Given the description of an element on the screen output the (x, y) to click on. 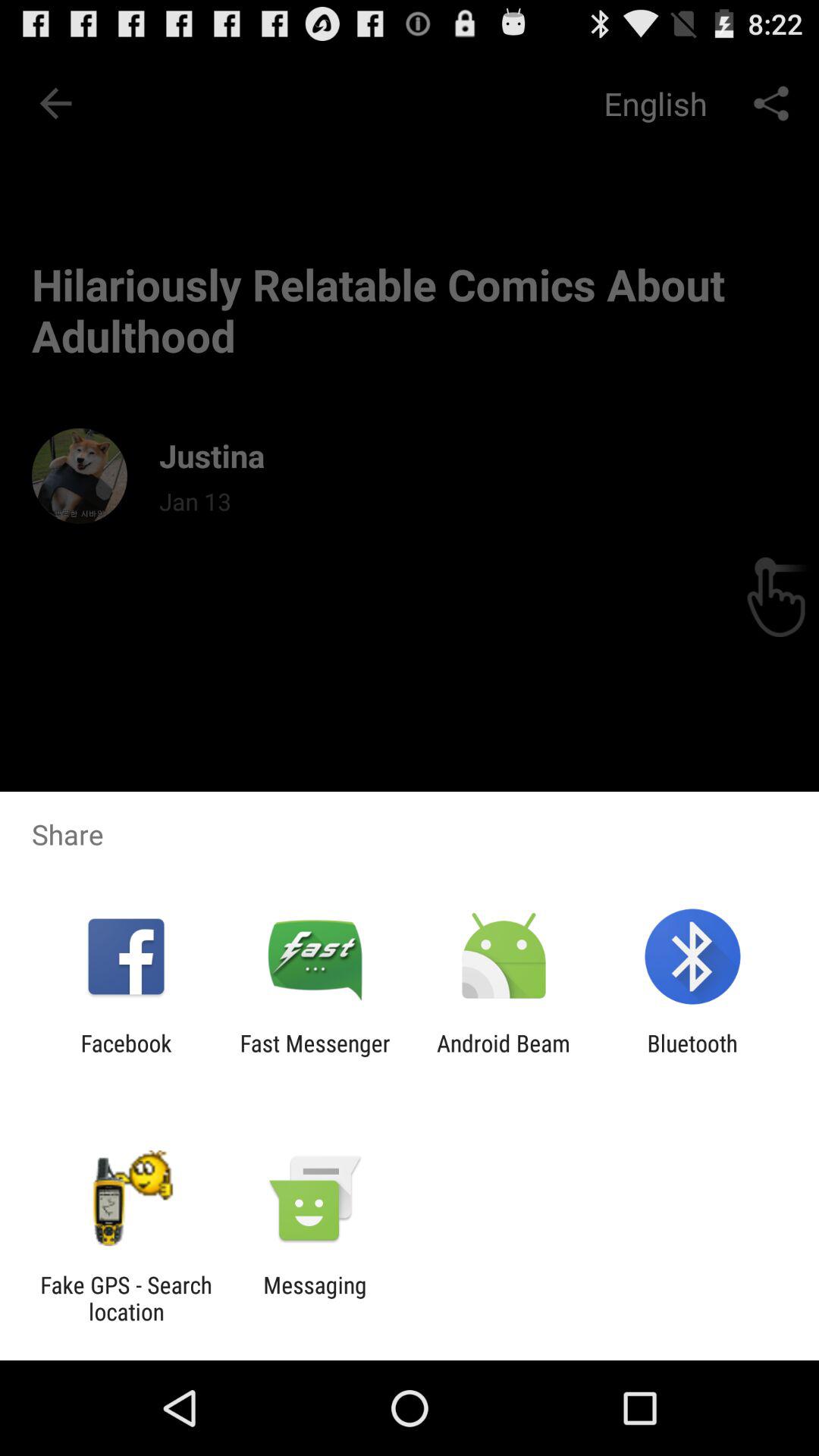
launch icon next to facebook (315, 1056)
